Given the description of an element on the screen output the (x, y) to click on. 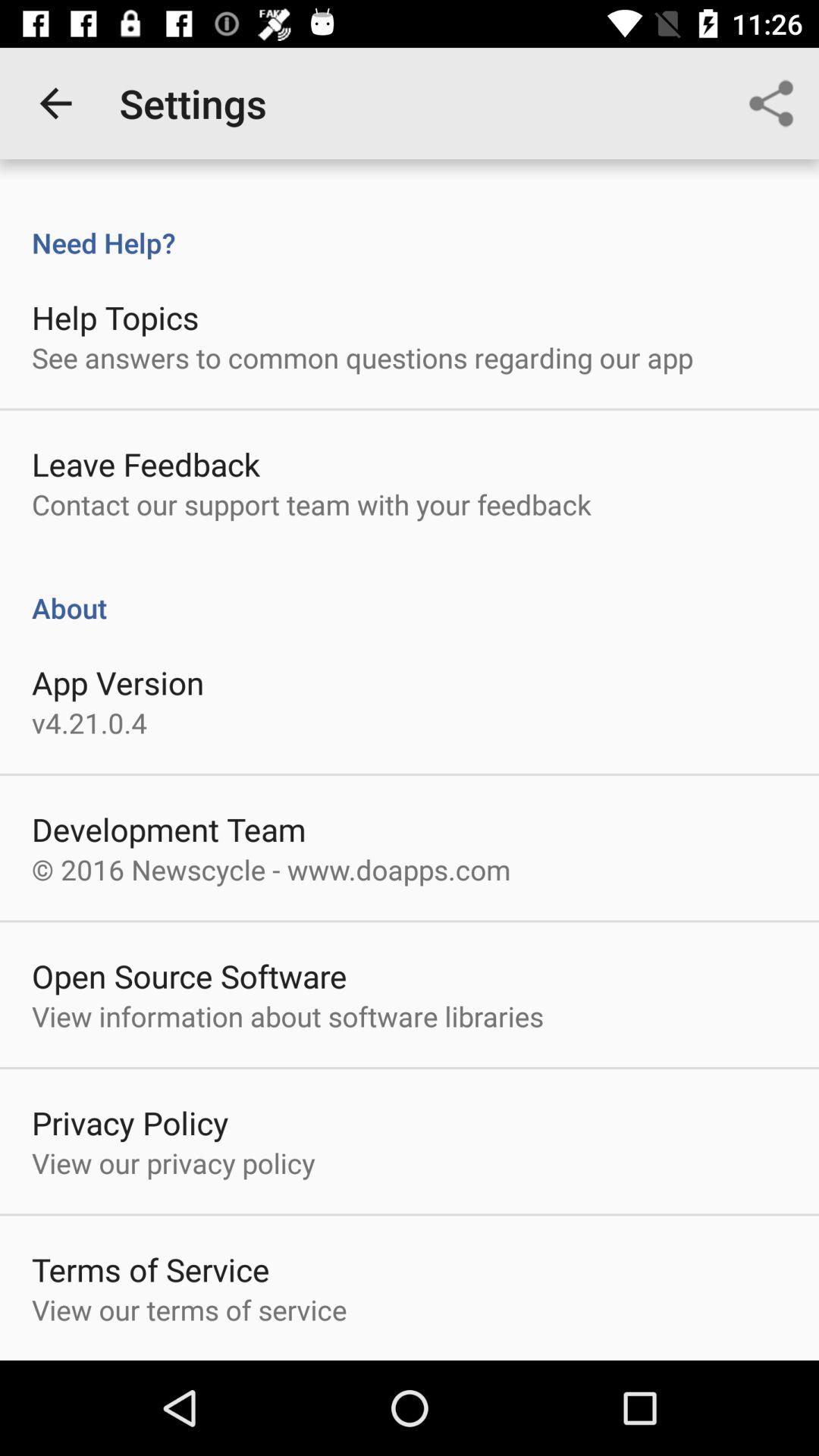
press the item below the leave feedback icon (311, 504)
